Given the description of an element on the screen output the (x, y) to click on. 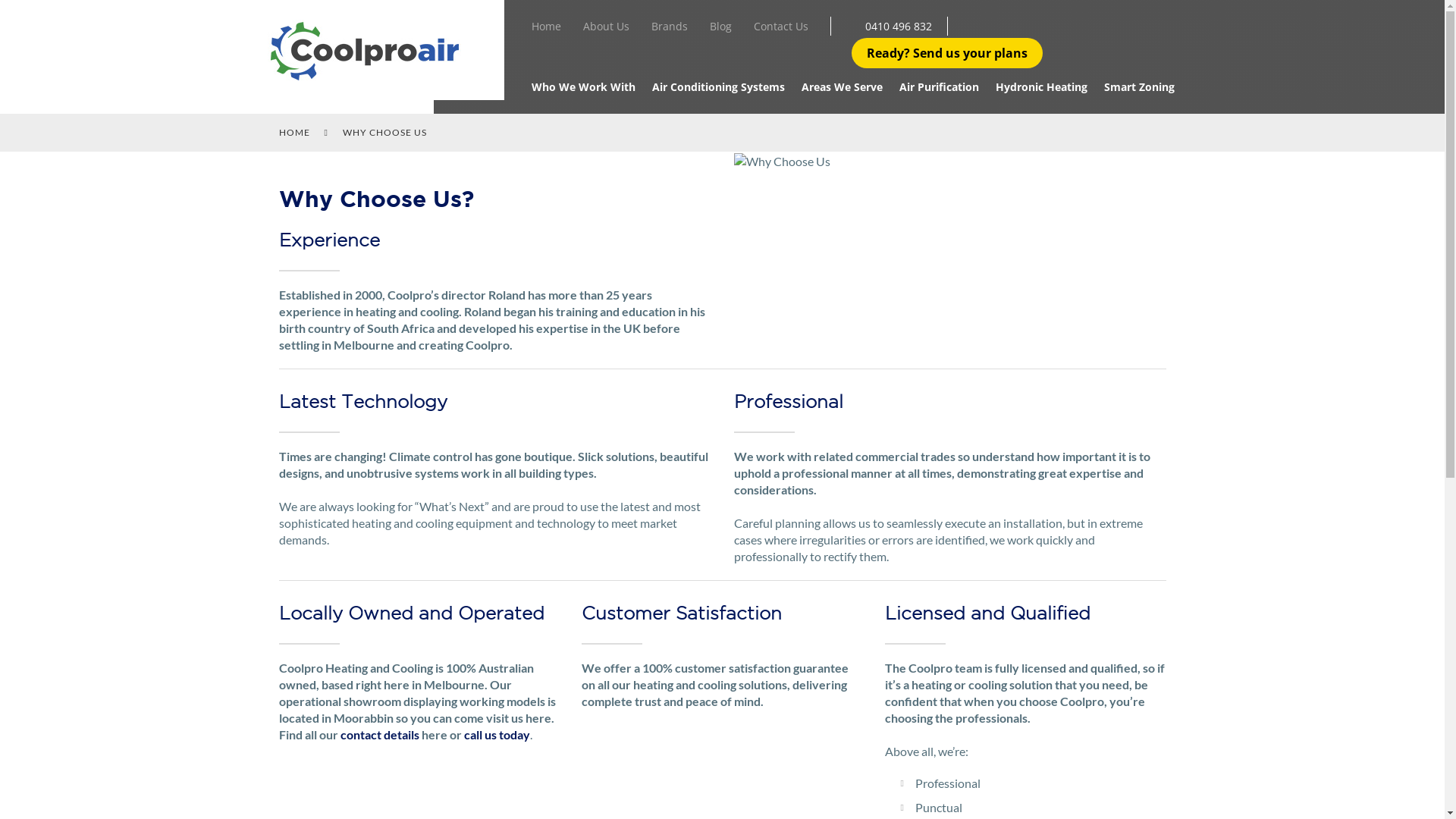
Hydronic Heating Element type: text (1040, 89)
Brands Element type: text (668, 28)
Areas We Serve Element type: text (840, 89)
Home Element type: text (545, 28)
Air Conditioning Systems Element type: text (718, 89)
Who We Work With Element type: text (582, 89)
Ready? Send us your plans Element type: text (945, 52)
Air Purification Element type: text (939, 89)
Blog Element type: text (720, 28)
Smart Zoning Element type: text (1139, 89)
About Us Element type: text (605, 28)
Contact Us Element type: text (780, 28)
0410 496 832 Element type: text (897, 25)
Why Choose Us Element type: hover (782, 161)
contact details Element type: text (378, 734)
call us today Element type: text (497, 734)
HOME Element type: text (294, 132)
